Given the description of an element on the screen output the (x, y) to click on. 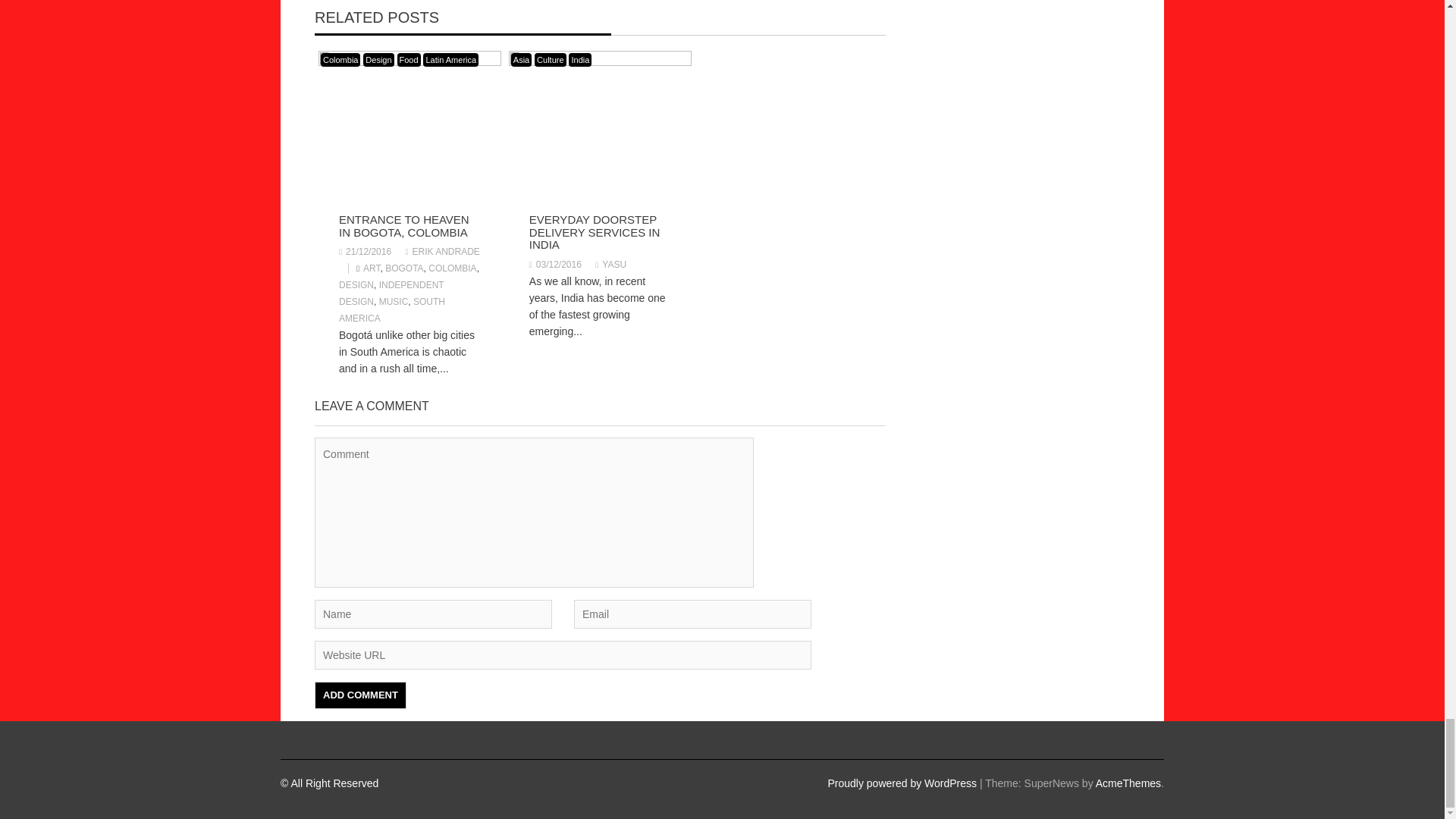
India (580, 59)
Latin America (451, 59)
SOUTH AMERICA (392, 309)
Colombia (339, 59)
Asia (521, 59)
Food (408, 59)
Culture (550, 59)
YASU (610, 264)
BOGOTA (404, 267)
Design (377, 59)
ART (371, 267)
ENTRANCE TO HEAVEN IN BOGOTA, COLOMBIA (403, 225)
ERIK ANDRADE (441, 251)
COLOMBIA (452, 267)
MUSIC (393, 301)
